Given the description of an element on the screen output the (x, y) to click on. 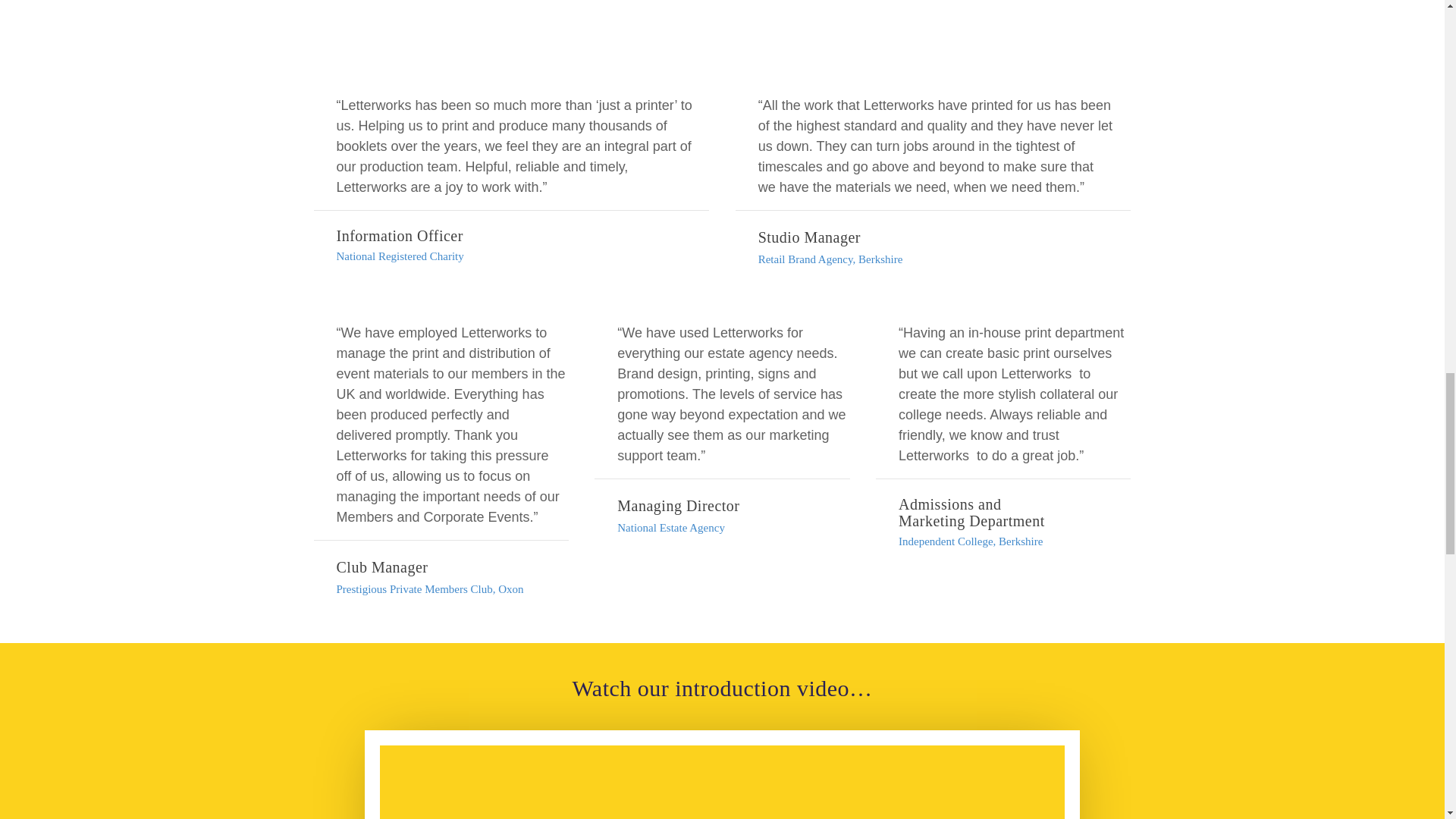
letterworks Introduction (722, 782)
